Given the description of an element on the screen output the (x, y) to click on. 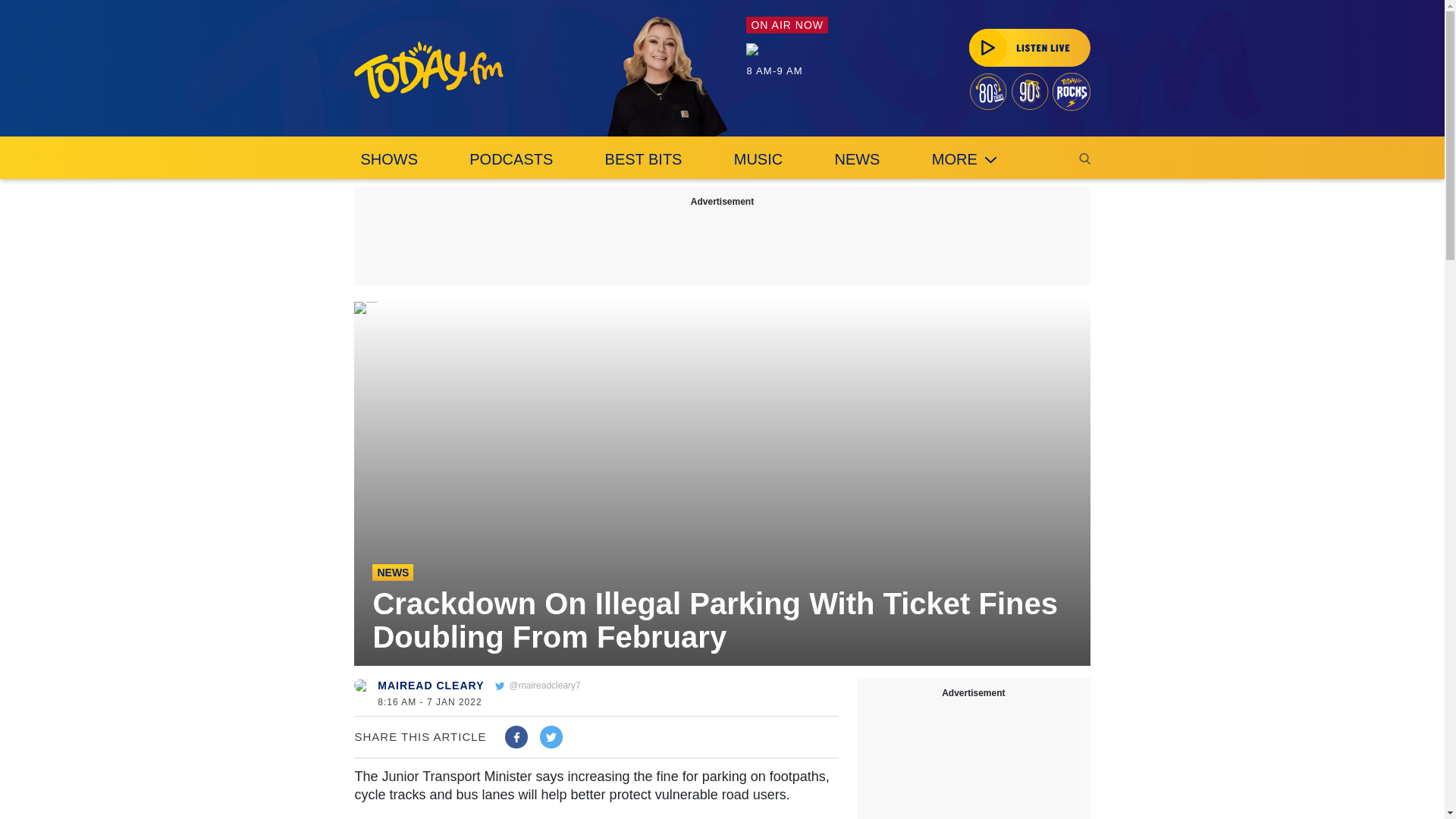
Podcasts (511, 157)
MAIREAD CLEARY (430, 685)
All Irish With Claire Beck (667, 75)
8 AM-9 AM (786, 58)
Best Bits (643, 157)
PODCASTS (511, 157)
Shows (388, 157)
MORE (964, 158)
All Irish With Claire Beck (756, 49)
BEST BITS (643, 157)
